Given the description of an element on the screen output the (x, y) to click on. 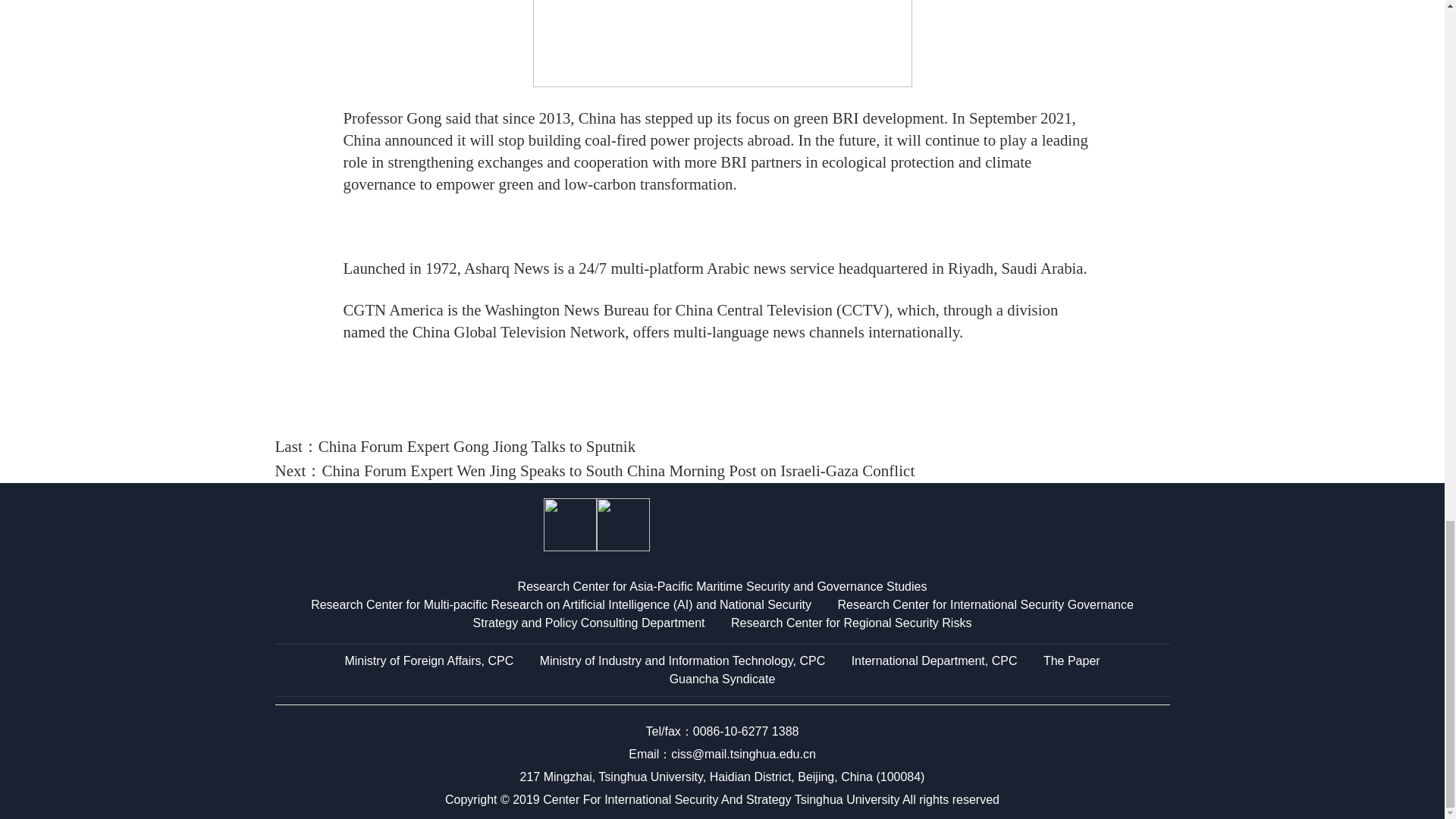
Ministry of Foreign Affairs, CPC (428, 660)
Ministry of Industry and Information Technology, CPC (682, 660)
Strategy and Policy Consulting Department (588, 622)
Research Center for International Security Governance (984, 604)
The Paper (1071, 660)
Ministry of Foreign Affairs, CPC (428, 660)
International Department, CPC (934, 660)
Research Center for Regional Security Risks (850, 622)
1698713258611071562.png (721, 43)
Guancha Syndicate (722, 678)
